Given the description of an element on the screen output the (x, y) to click on. 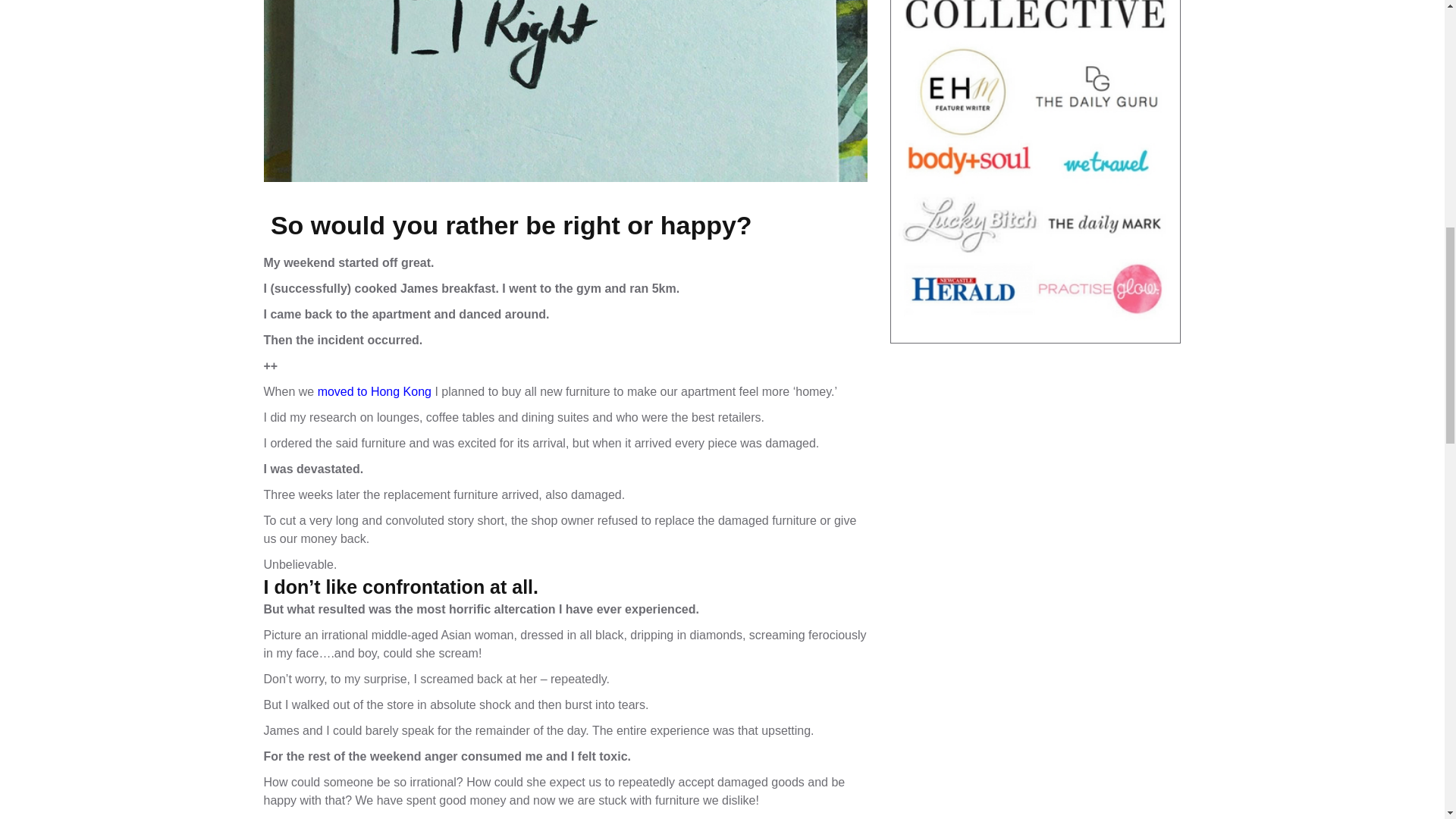
moved to Hong Kong (373, 391)
